Given the description of an element on the screen output the (x, y) to click on. 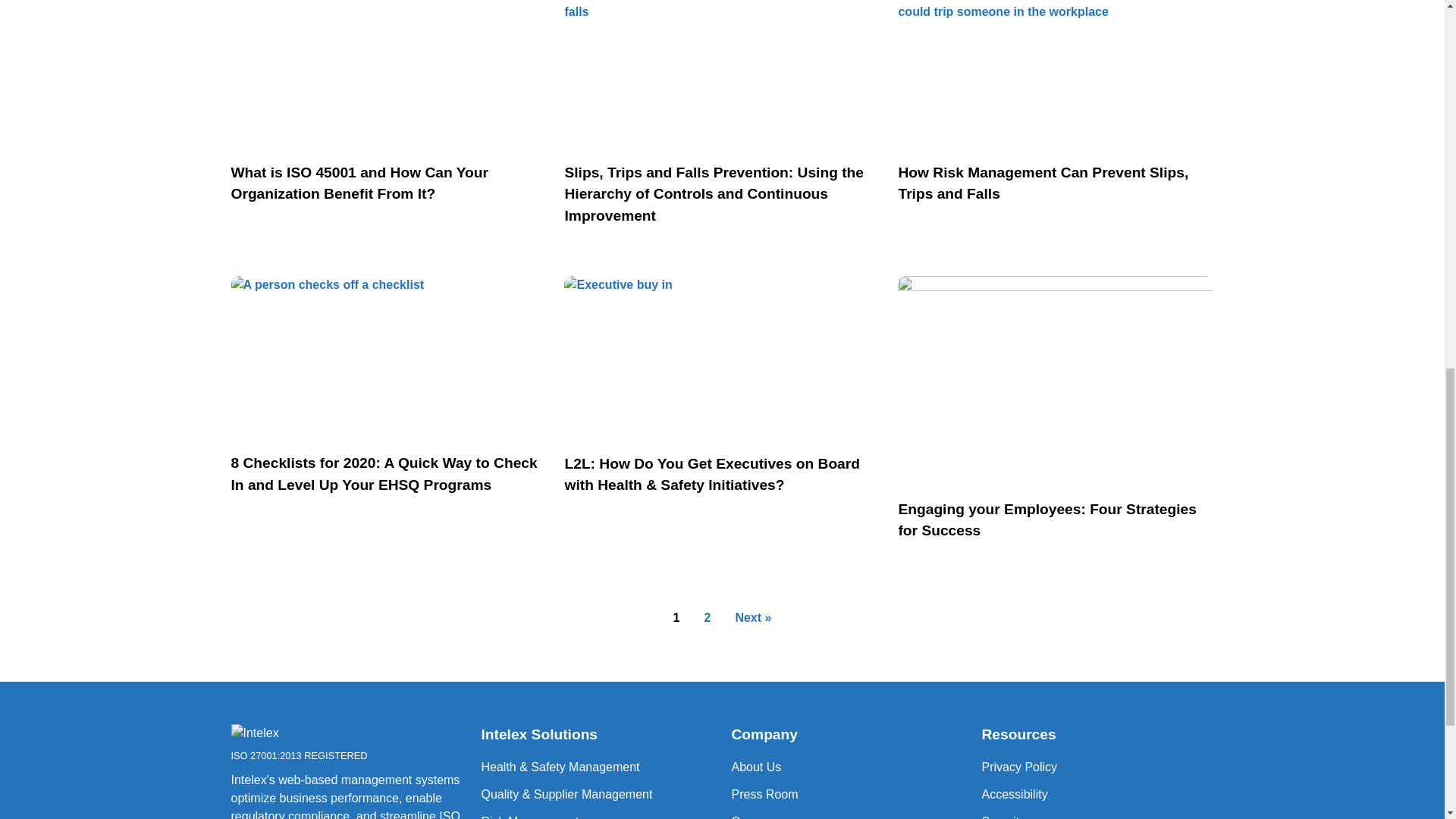
Engaging your Employees: Four Strategies for Success (291, 734)
